Given the description of an element on the screen output the (x, y) to click on. 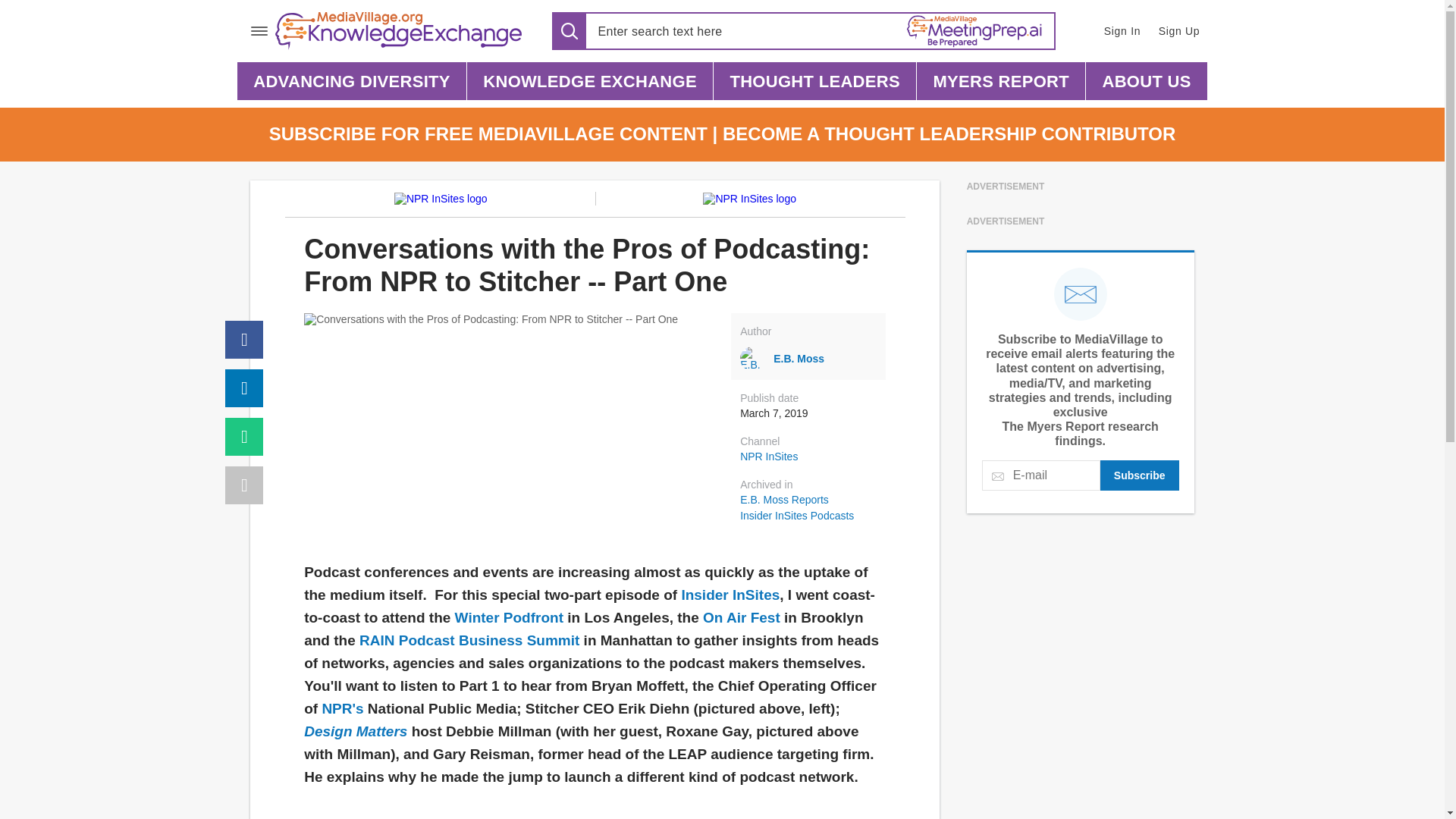
MYERS REPORT (1000, 80)
LinkedIn (244, 388)
ADVANCING DIVERSITY (351, 80)
E.B. Moss Reports (812, 499)
ABOUT US (1146, 80)
Insider InSites Podcasts (812, 515)
Facebook (244, 339)
Print (244, 485)
Sign Up (1179, 30)
NPR InSites (768, 456)
